Given the description of an element on the screen output the (x, y) to click on. 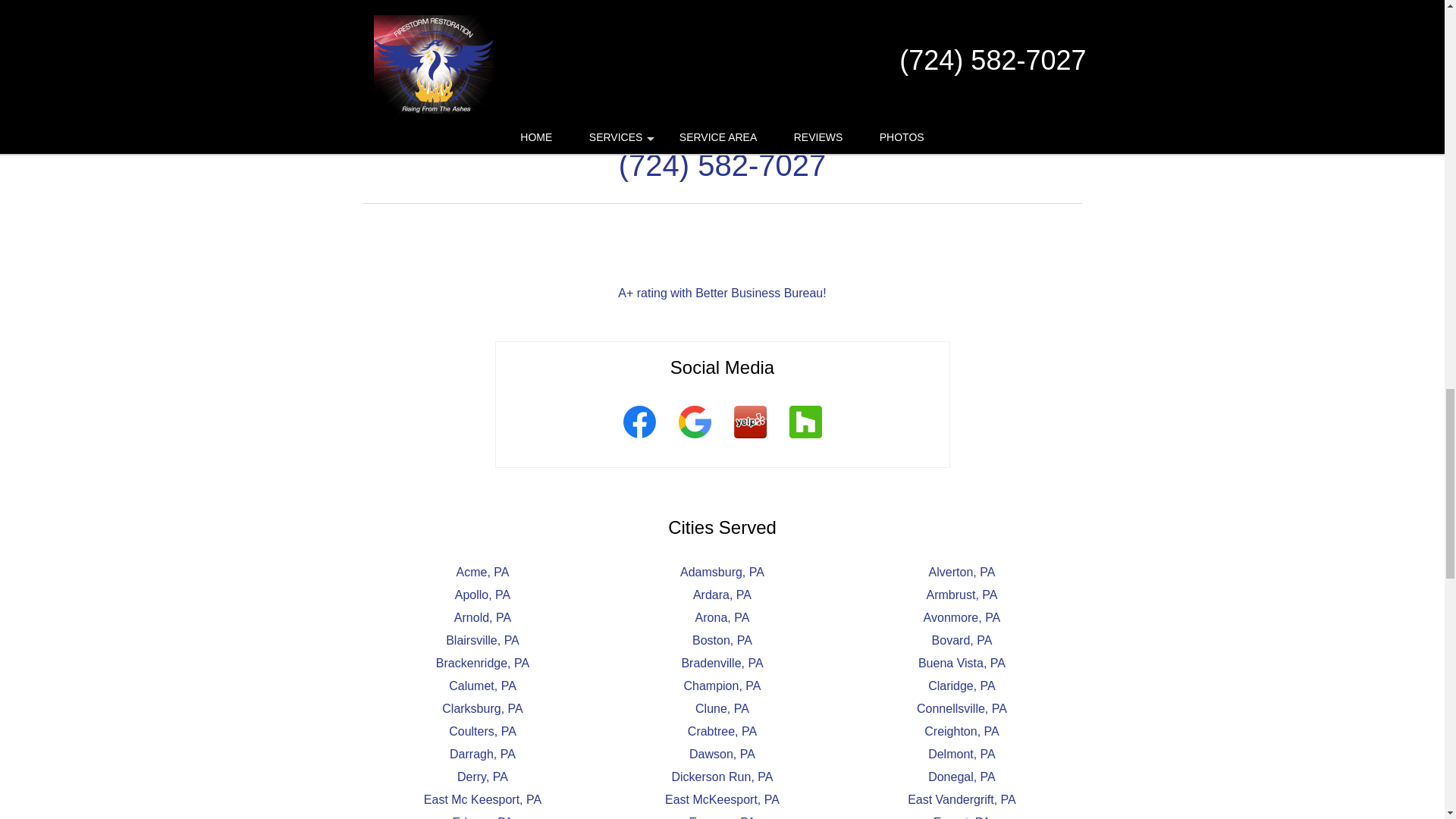
Google (694, 440)
Facebook (638, 440)
Houzz (804, 440)
Yelp (749, 440)
